Given the description of an element on the screen output the (x, y) to click on. 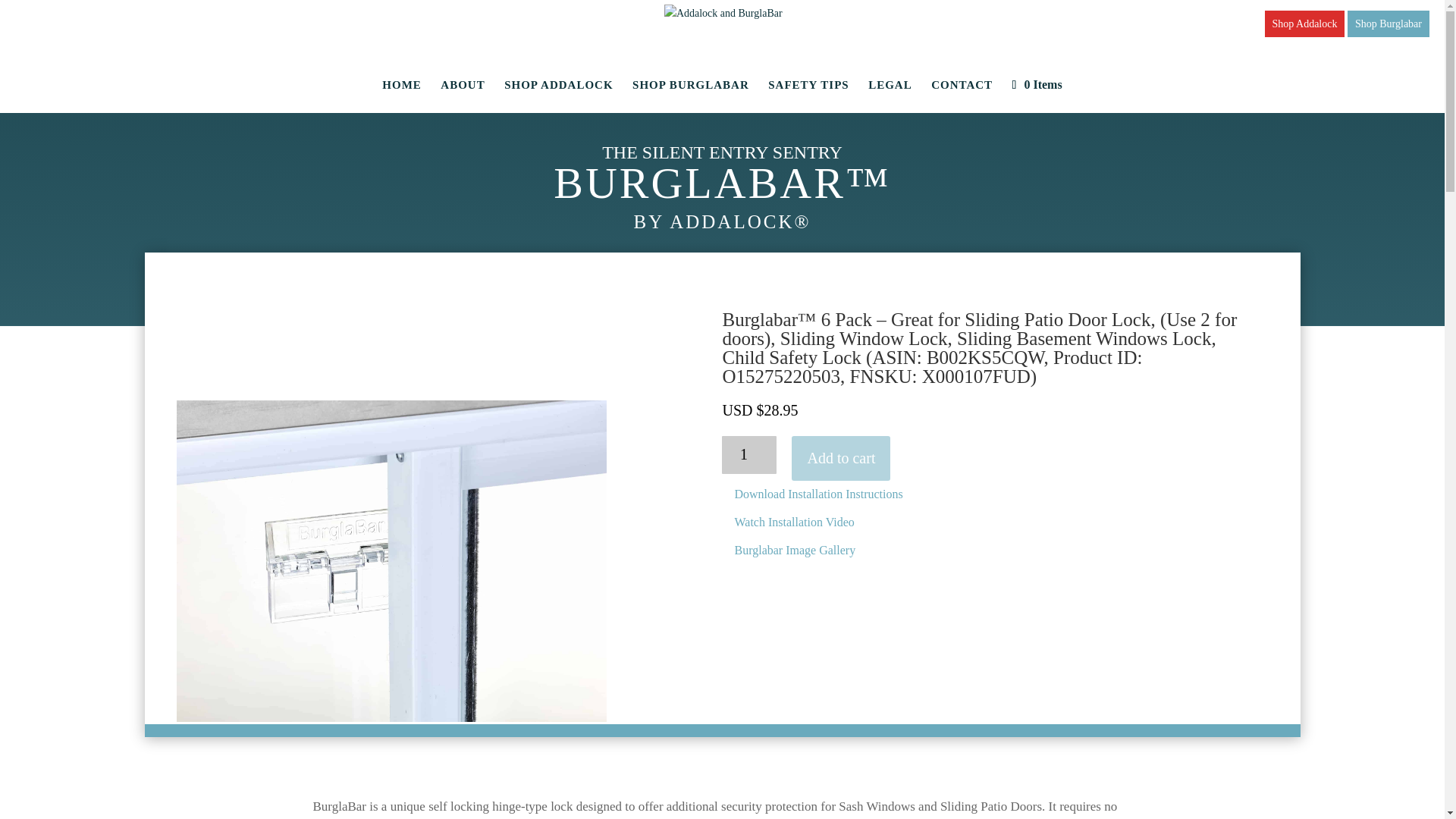
SHOP ADDALOCK (557, 96)
CONTACT (961, 96)
0 Items (1036, 83)
SAFETY TIPS (808, 96)
1 (749, 454)
Burglabar Top of Window Opening Over Burglabar - 1 (391, 717)
Burglabar Image Gallery (794, 550)
Shop Burglabar (1388, 23)
ABOUT (462, 96)
Watch Installation Video (794, 521)
Shop Addalock (1305, 23)
Download Installation Instructions (818, 494)
HOME (401, 96)
Add to cart (840, 457)
LEGAL (889, 96)
